Given the description of an element on the screen output the (x, y) to click on. 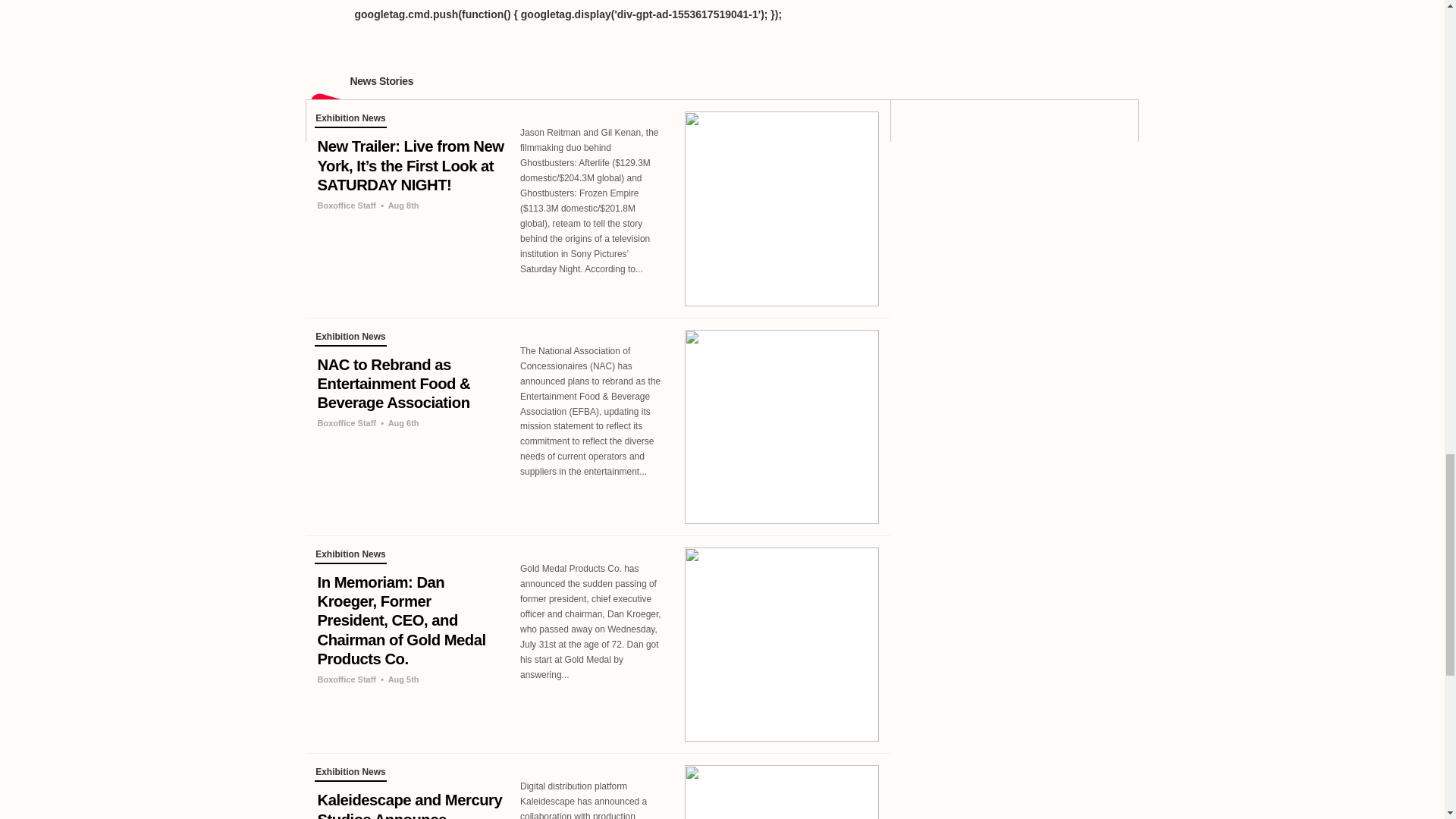
Exhibition News (349, 120)
Exhibition News (349, 556)
Exhibition News (349, 774)
Exhibition News (349, 338)
